Given the description of an element on the screen output the (x, y) to click on. 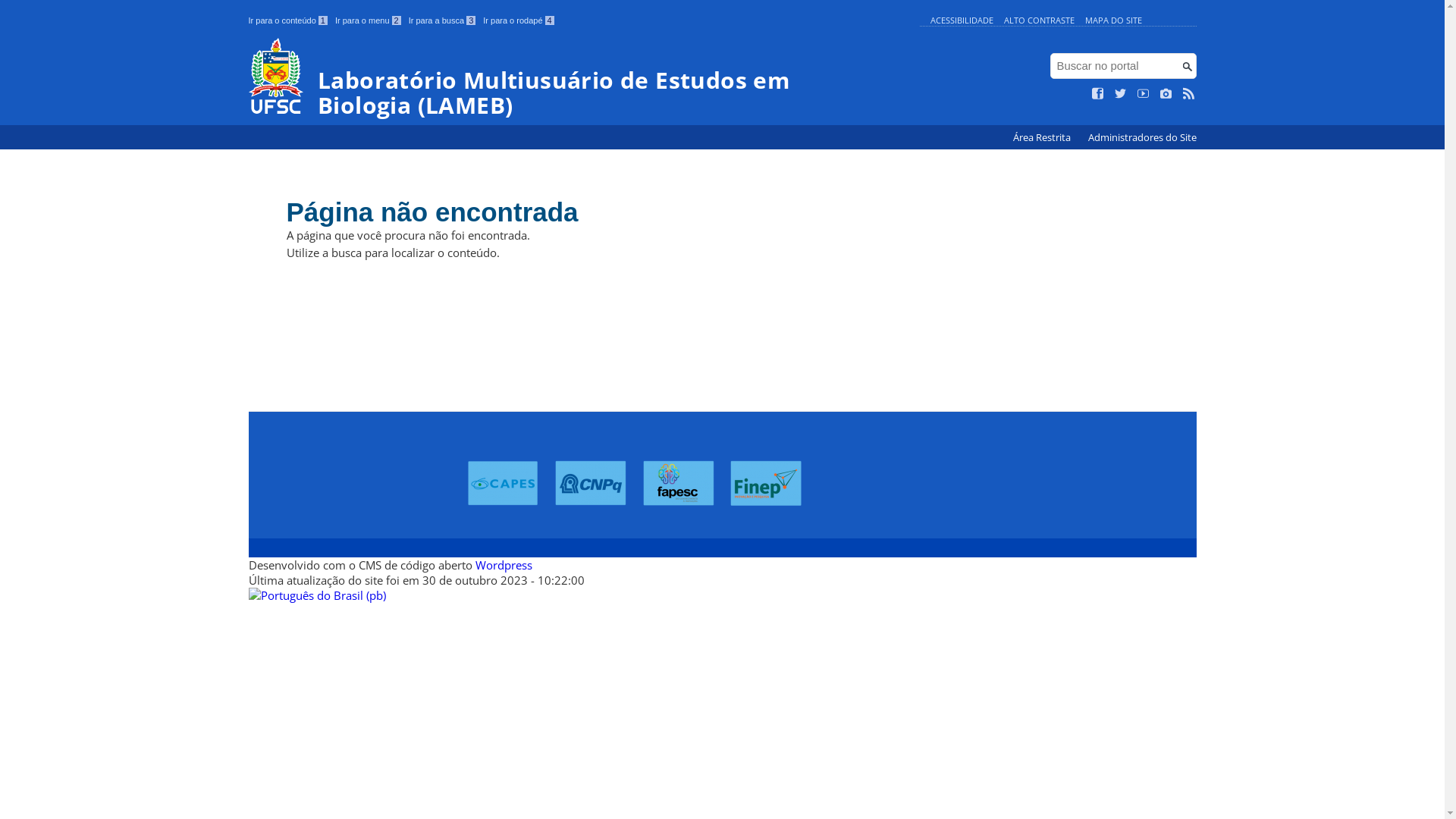
Siga no Twitter Element type: hover (1120, 93)
ALTO CONTRASTE Element type: text (1039, 19)
Ir para o menu 2 Element type: text (368, 20)
Ir para a busca 3 Element type: text (442, 20)
Veja no Instagram Element type: hover (1166, 93)
MAPA DO SITE Element type: text (1112, 19)
Curta no Facebook Element type: hover (1098, 93)
Administradores do Site Element type: text (1141, 137)
ACESSIBILIDADE Element type: text (960, 19)
Wordpress Element type: text (502, 564)
